Given the description of an element on the screen output the (x, y) to click on. 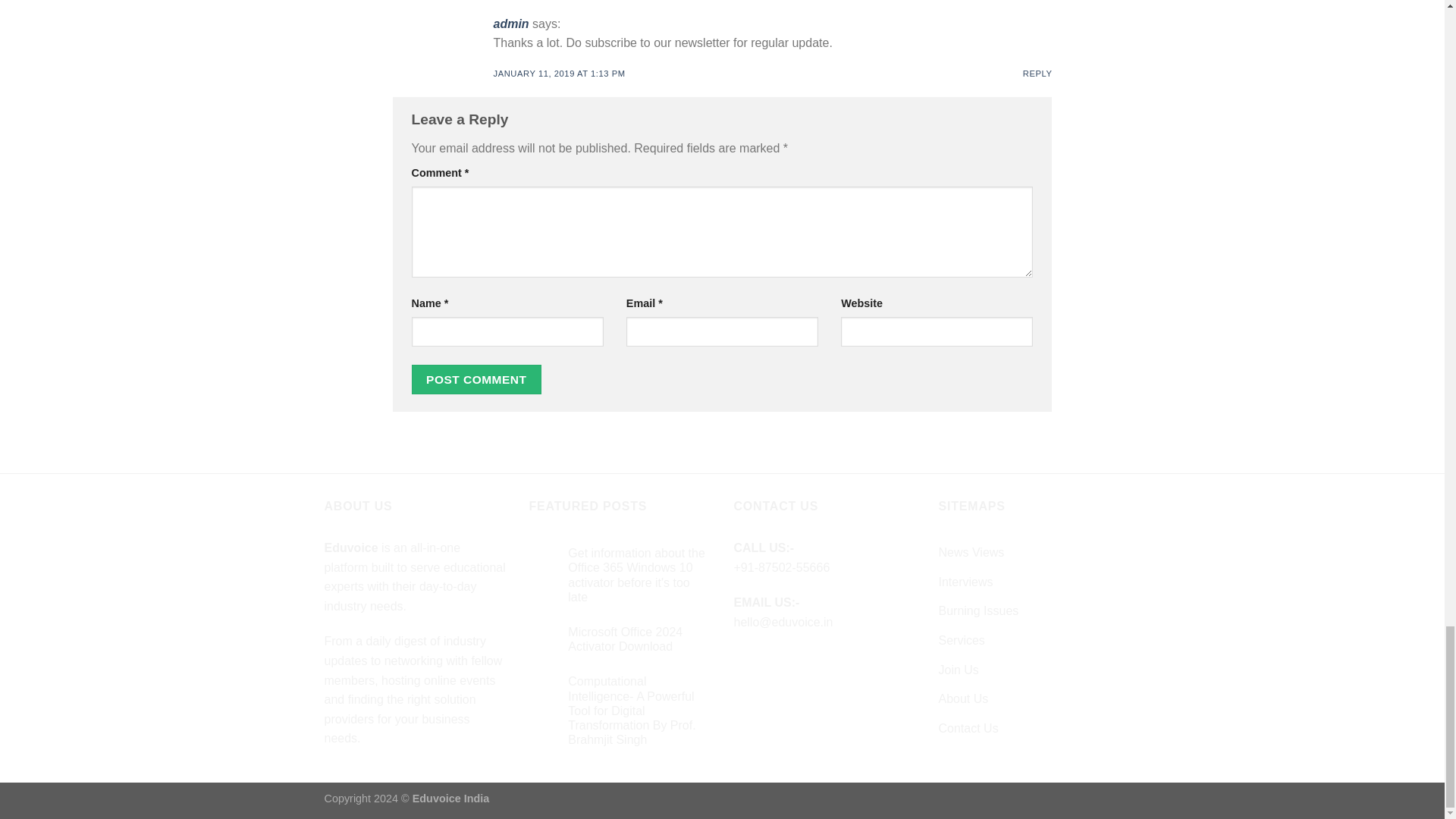
Post Comment (475, 378)
Microsoft Office 2024 Activator Download (638, 638)
